Given the description of an element on the screen output the (x, y) to click on. 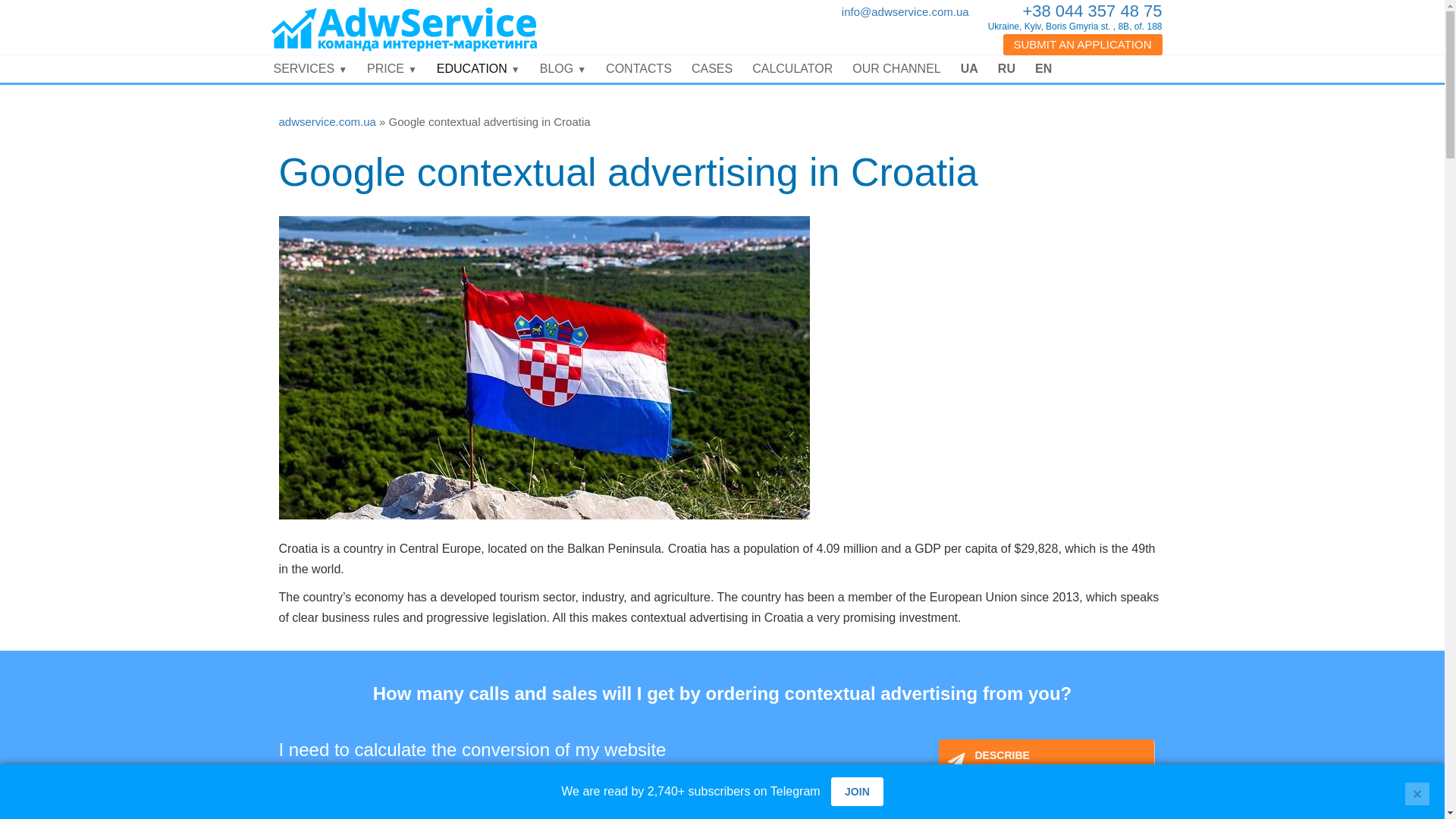
SERVICES (310, 68)
SUBMIT AN APPLICATION (1082, 44)
